Given the description of an element on the screen output the (x, y) to click on. 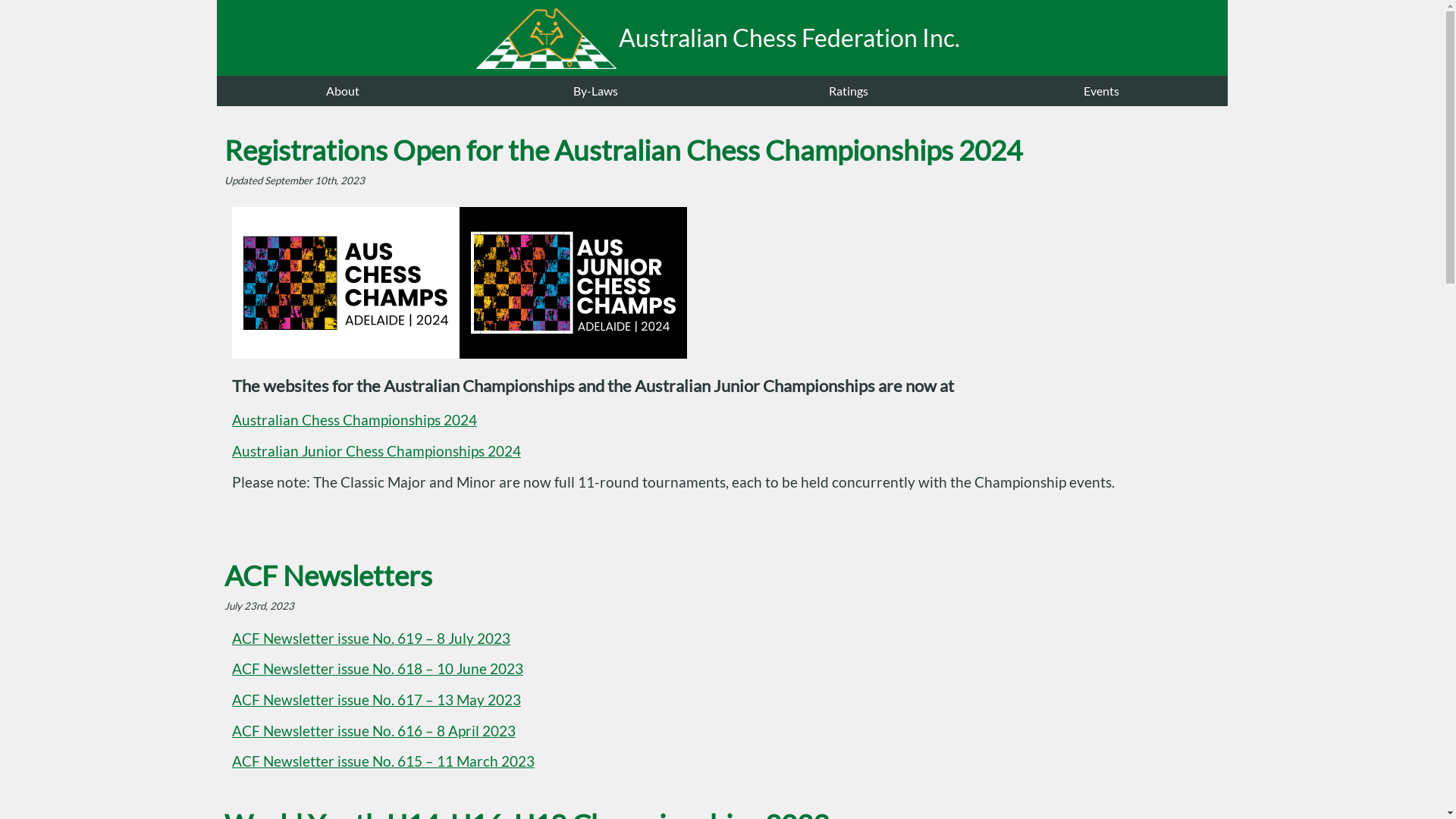
Australian Chess Championships 2024 Element type: text (354, 419)
ACF Newsletters Element type: text (328, 575)
Events Element type: text (1101, 90)
Ratings Element type: text (847, 90)
Australian Chess Federation Inc. Element type: text (722, 37)
About Element type: text (342, 90)
Australian Junior Chess Championships 2024 Element type: text (376, 450)
By-Laws Element type: text (595, 90)
